Given the description of an element on the screen output the (x, y) to click on. 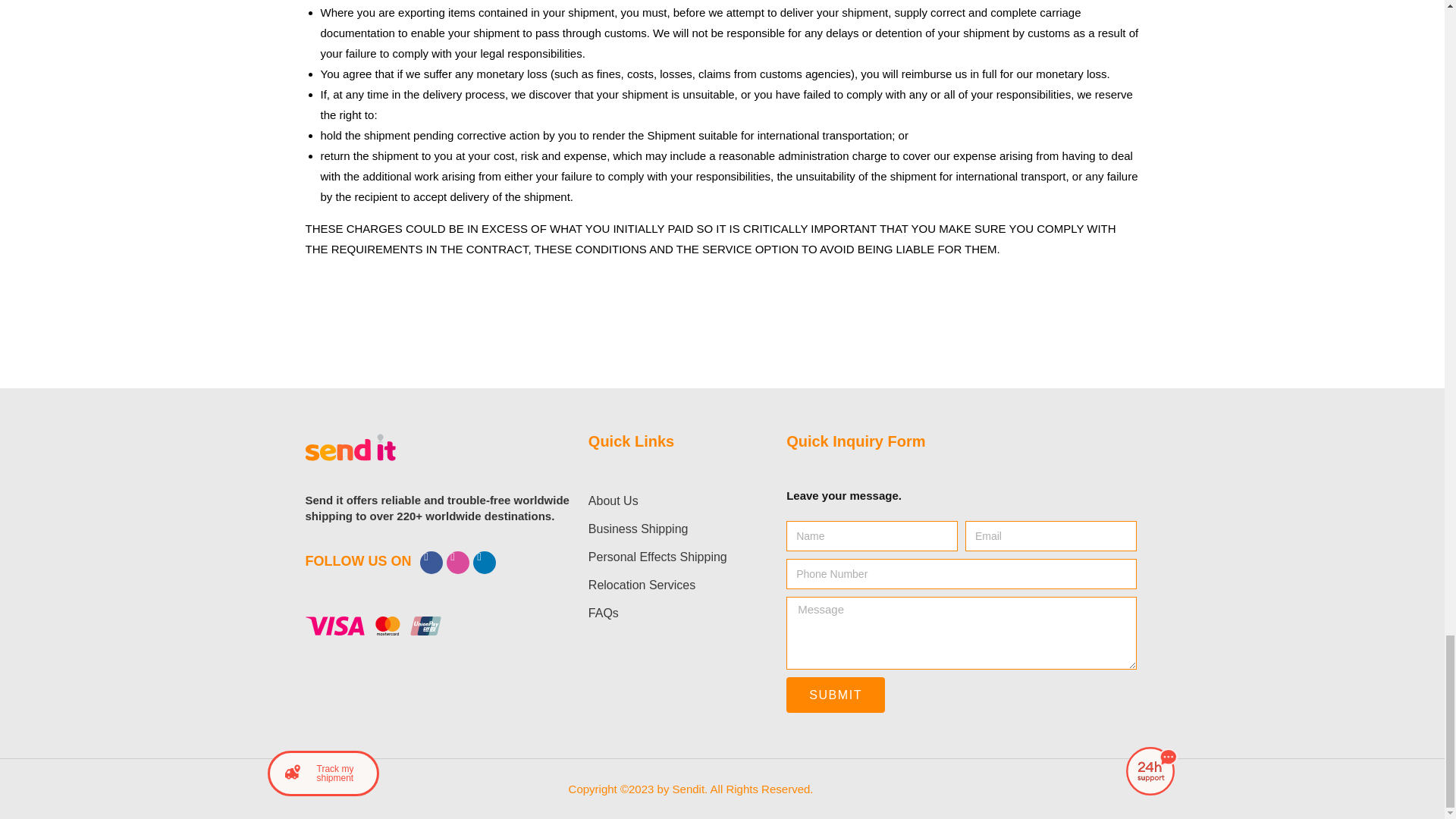
SUBMIT (835, 694)
About Us (672, 500)
Relocation Services (672, 584)
Business Shipping (672, 528)
FAQs (672, 612)
Personal Effects Shipping (672, 556)
